Given the description of an element on the screen output the (x, y) to click on. 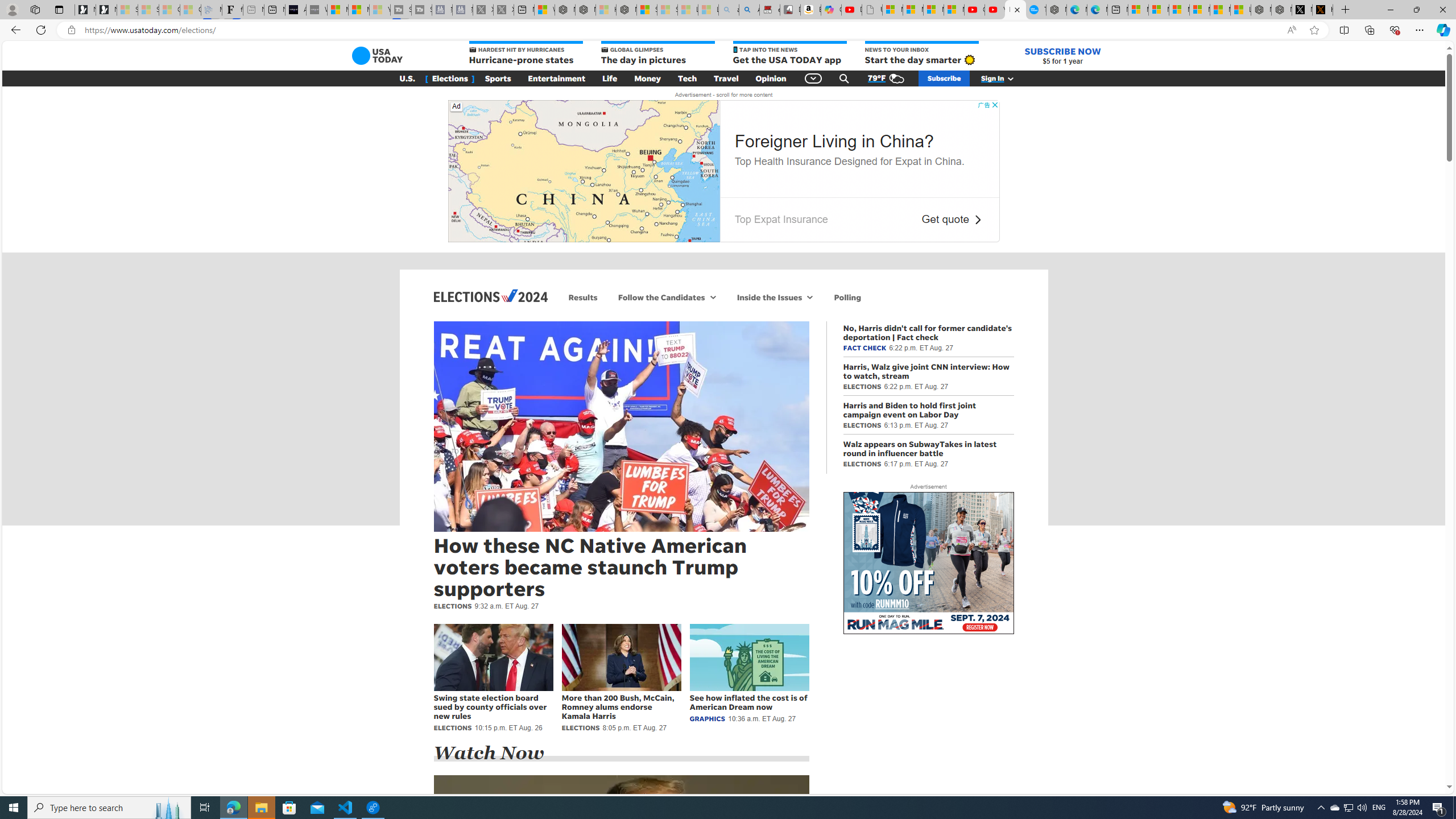
Follow the Candidates (660, 296)
Global Navigation (813, 78)
Copilot (830, 9)
Class: gnt_sn_a_svg gnt_sn_a__db_svg (809, 296)
Amazon Echo Dot PNG - Search Images (748, 9)
help.x.com | 524: A timeout occurred (1322, 9)
Gloom - YouTube (974, 9)
